Given the description of an element on the screen output the (x, y) to click on. 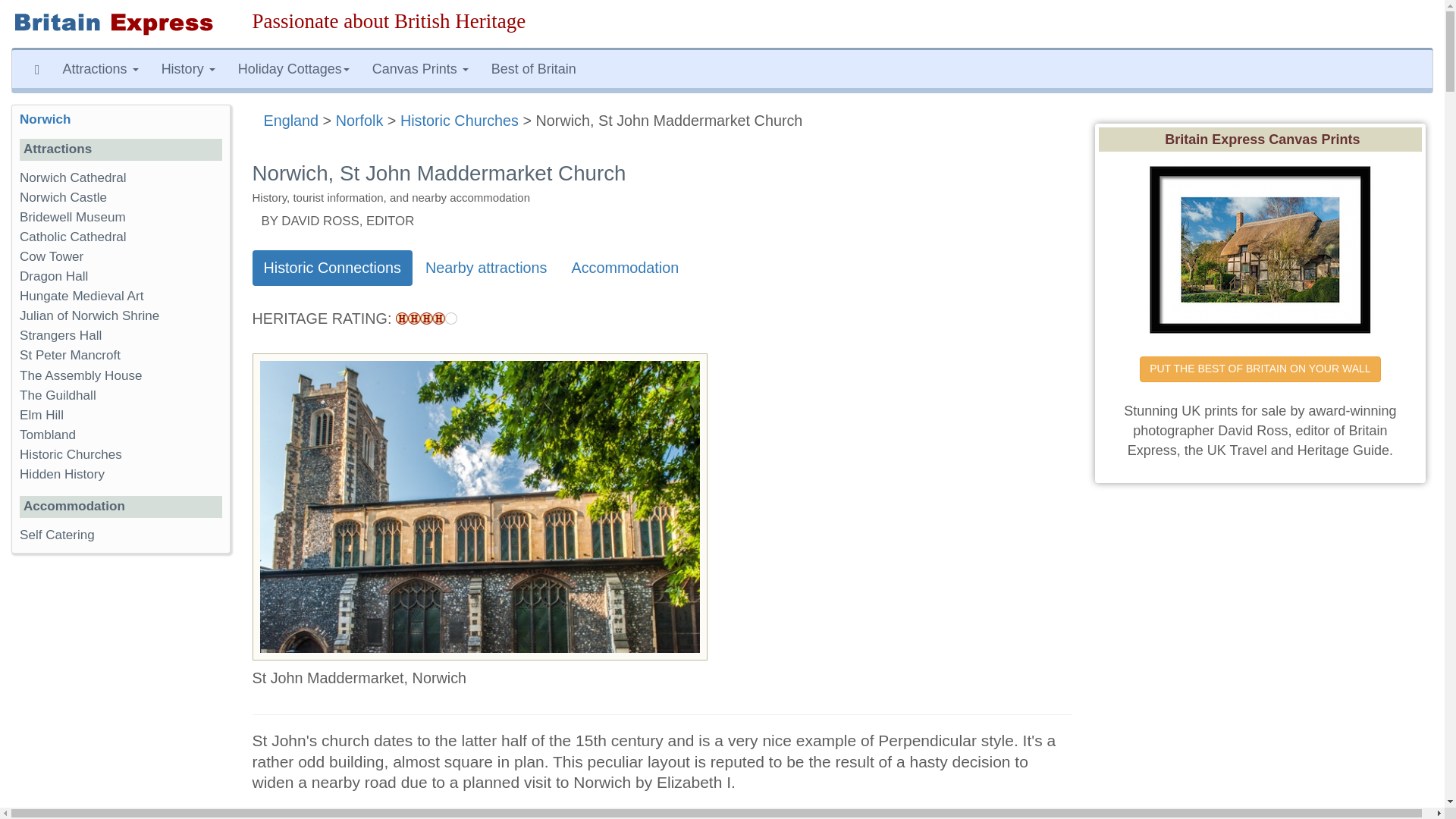
Historic Connections (331, 267)
Historic Churches (459, 120)
Canvas Prints (420, 68)
Holiday Cottages (294, 68)
England (290, 120)
Accommodation (624, 267)
History (188, 68)
Norfolk (360, 120)
Attractions (99, 68)
Britain Express home page (120, 23)
Nearby attractions (486, 267)
Best of Britain (534, 68)
